Given the description of an element on the screen output the (x, y) to click on. 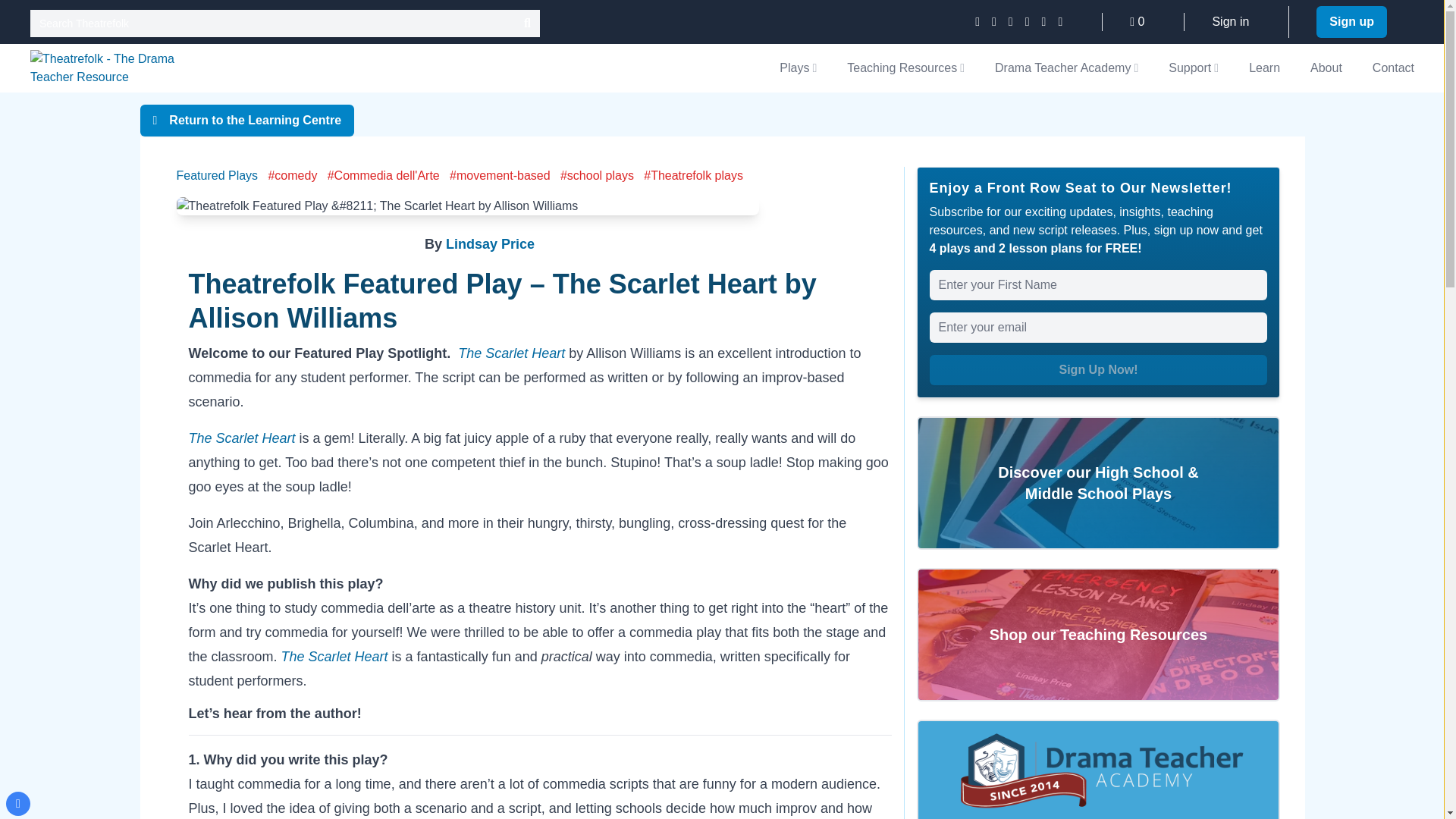
Teaching Resources (905, 67)
Sign Up Now! (1099, 369)
Learn (1264, 67)
Contact (1393, 67)
Drama Teacher Academy (1066, 67)
Plays (797, 67)
Sign up (1351, 21)
About (1326, 67)
Sign in (1230, 21)
0 (1136, 21)
Support (1193, 67)
Theatrefolk - The Drama Teacher Resource Company (103, 67)
Back to Top (17, 803)
